Given the description of an element on the screen output the (x, y) to click on. 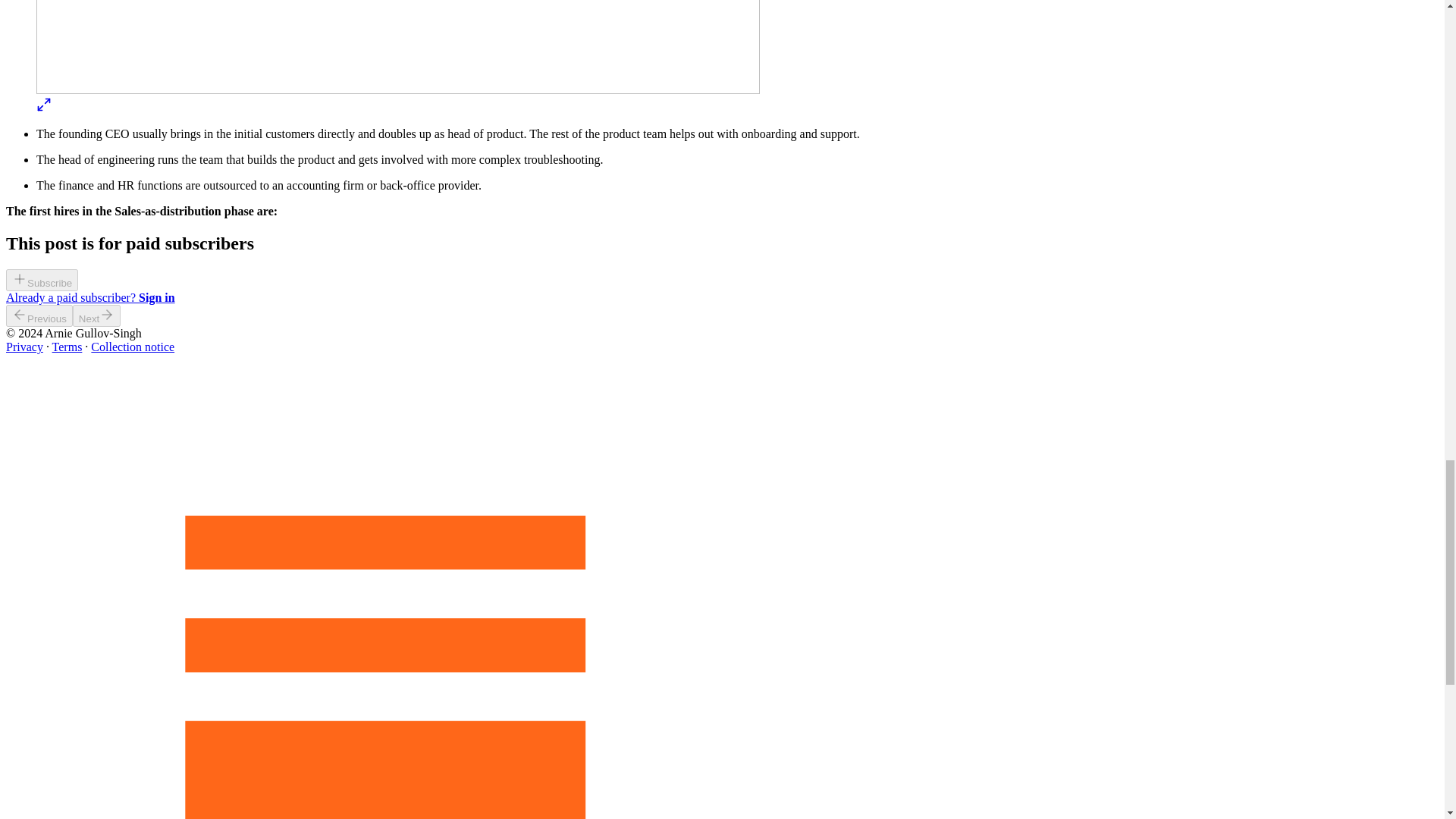
Already a paid subscriber? Sign in (89, 297)
Collection notice (132, 346)
Subscribe (41, 280)
Subscribe (41, 282)
Next (96, 315)
Privacy (24, 346)
Previous (38, 315)
Terms (67, 346)
